Given the description of an element on the screen output the (x, y) to click on. 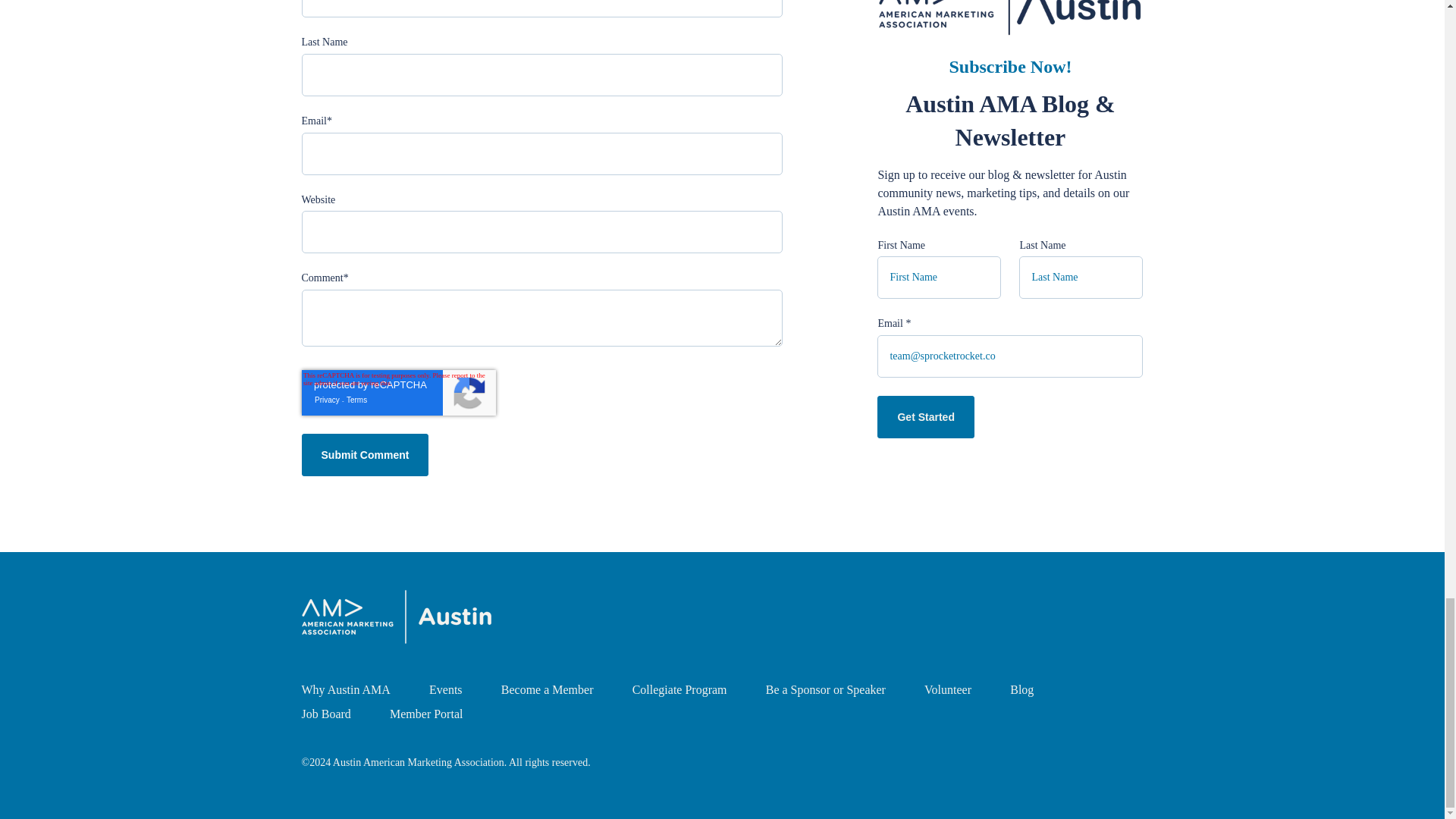
reCAPTCHA (398, 392)
Submit Comment (365, 454)
